Given the description of an element on the screen output the (x, y) to click on. 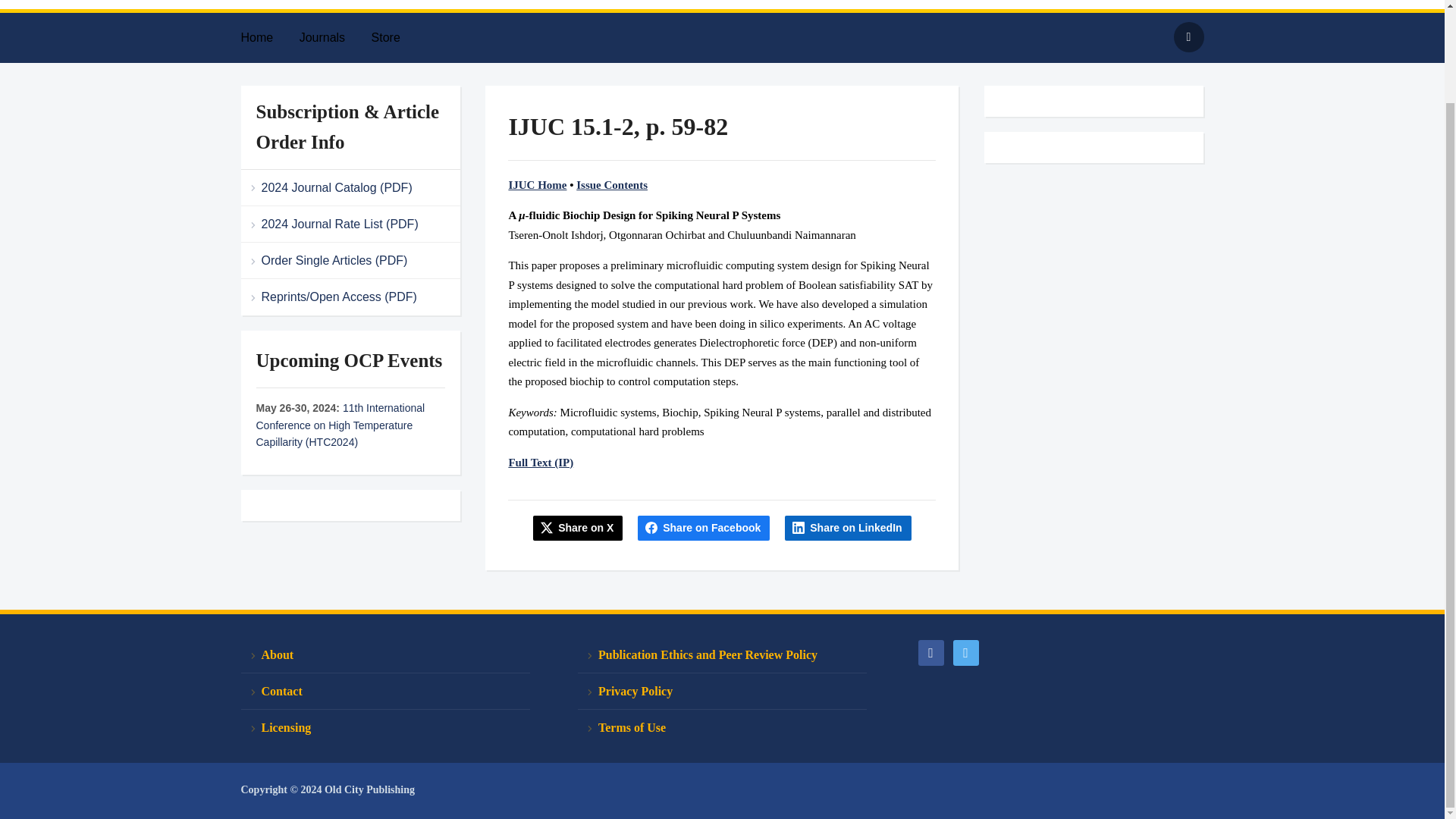
Share this on Facebook (703, 527)
IJUC Home (537, 184)
Publication Ethics and Peer Review Policy (722, 655)
Share on X (577, 527)
Friend me on Facebook (930, 650)
Search (1188, 37)
Share on LinkedIn (847, 527)
Share on Facebook (703, 527)
Home (269, 37)
About (385, 655)
